Given the description of an element on the screen output the (x, y) to click on. 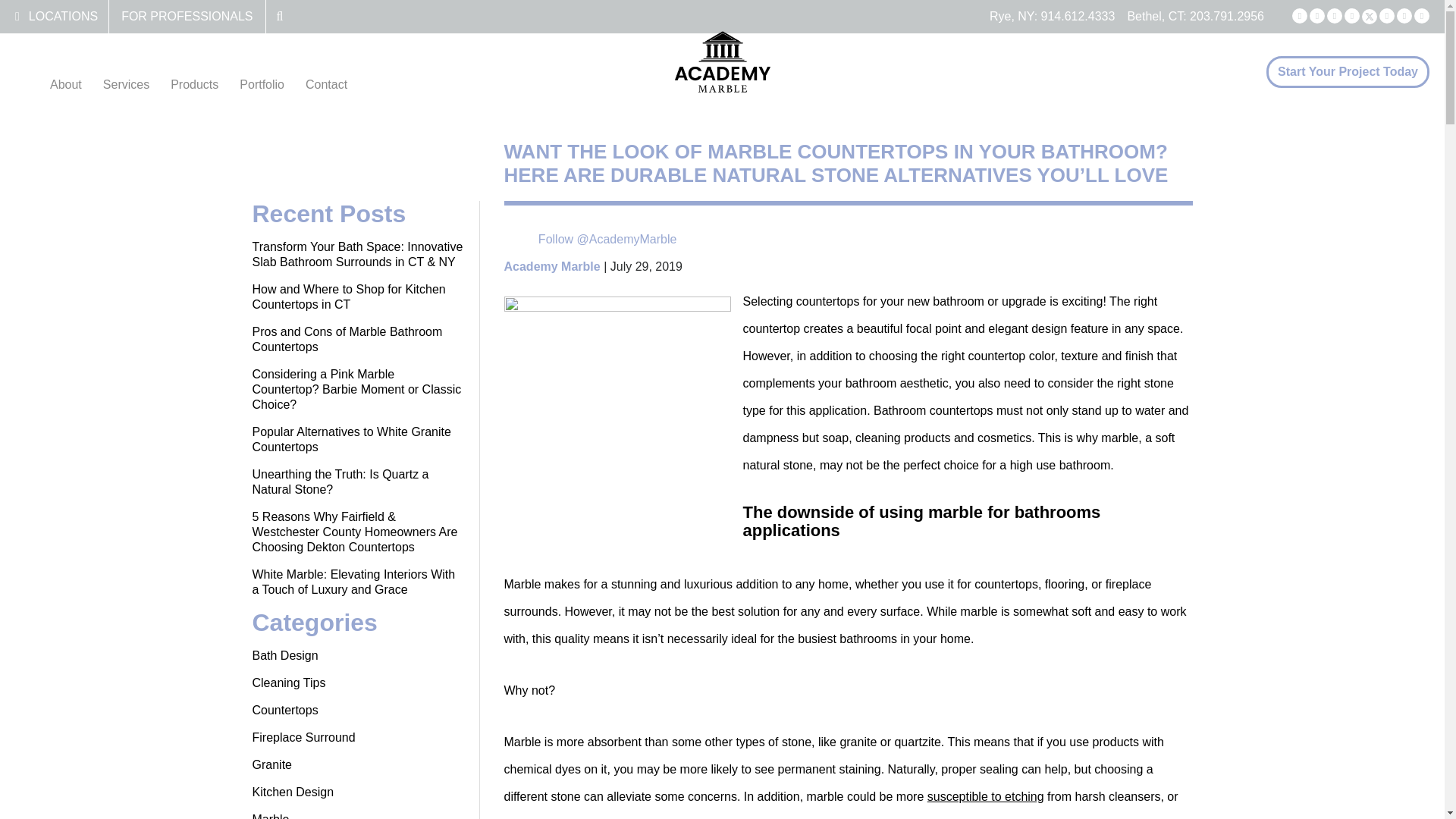
203.791.2956 (1226, 15)
914.612.4333 (1078, 15)
FOR PROFESSIONALS (185, 15)
LOCATIONS (63, 15)
